Given the description of an element on the screen output the (x, y) to click on. 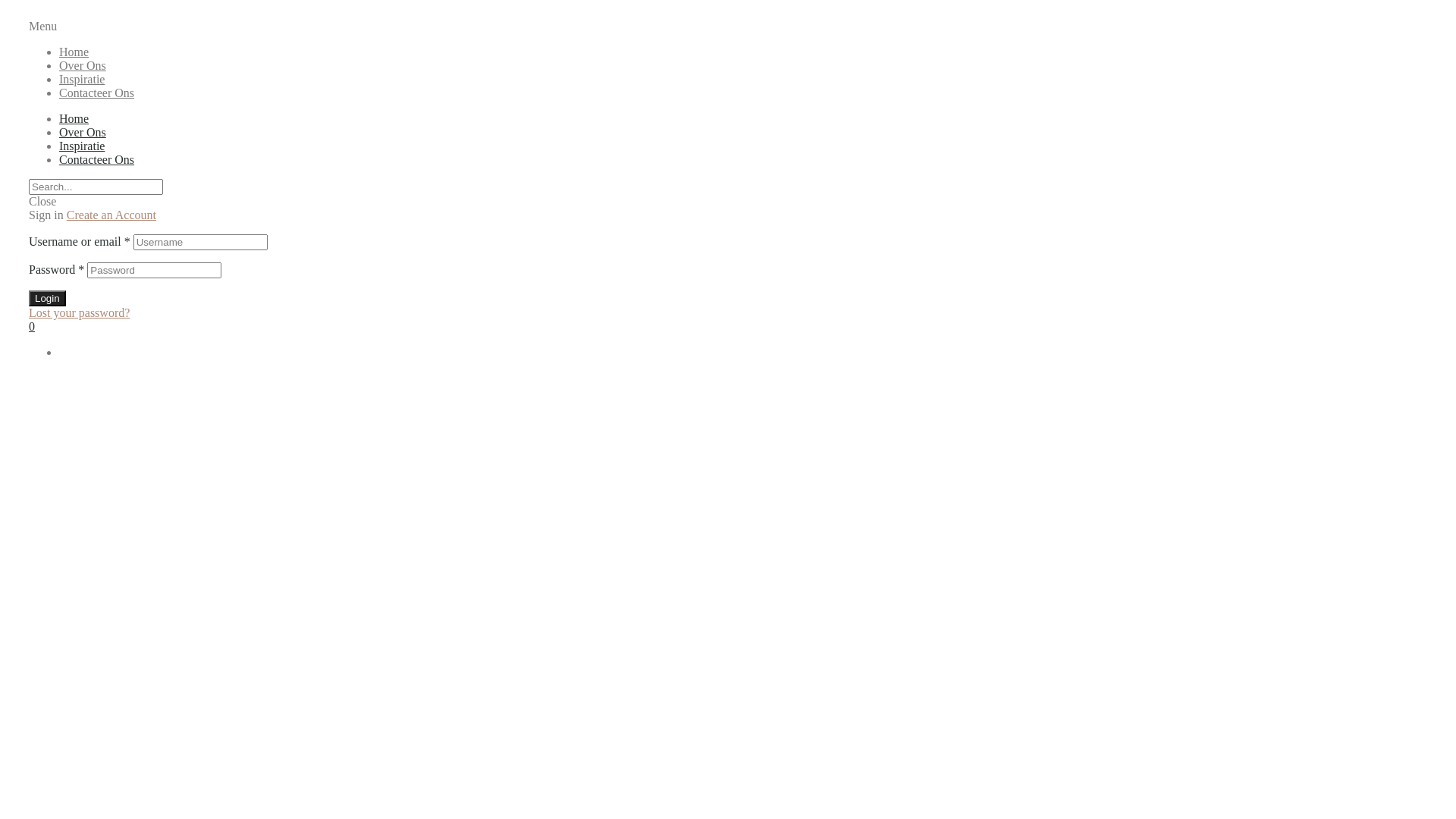
0 Element type: text (31, 326)
Home Element type: text (73, 118)
Over Ons Element type: text (82, 131)
Home Element type: text (73, 51)
Create an Account Element type: text (111, 214)
Search Element type: hover (95, 186)
Contacteer Ons Element type: text (96, 159)
Lost your password? Element type: text (78, 312)
Inspiratie Element type: text (81, 78)
Contacteer Ons Element type: text (96, 92)
Inspiratie Element type: text (81, 145)
Over Ons Element type: text (82, 65)
Login Element type: text (46, 298)
